Given the description of an element on the screen output the (x, y) to click on. 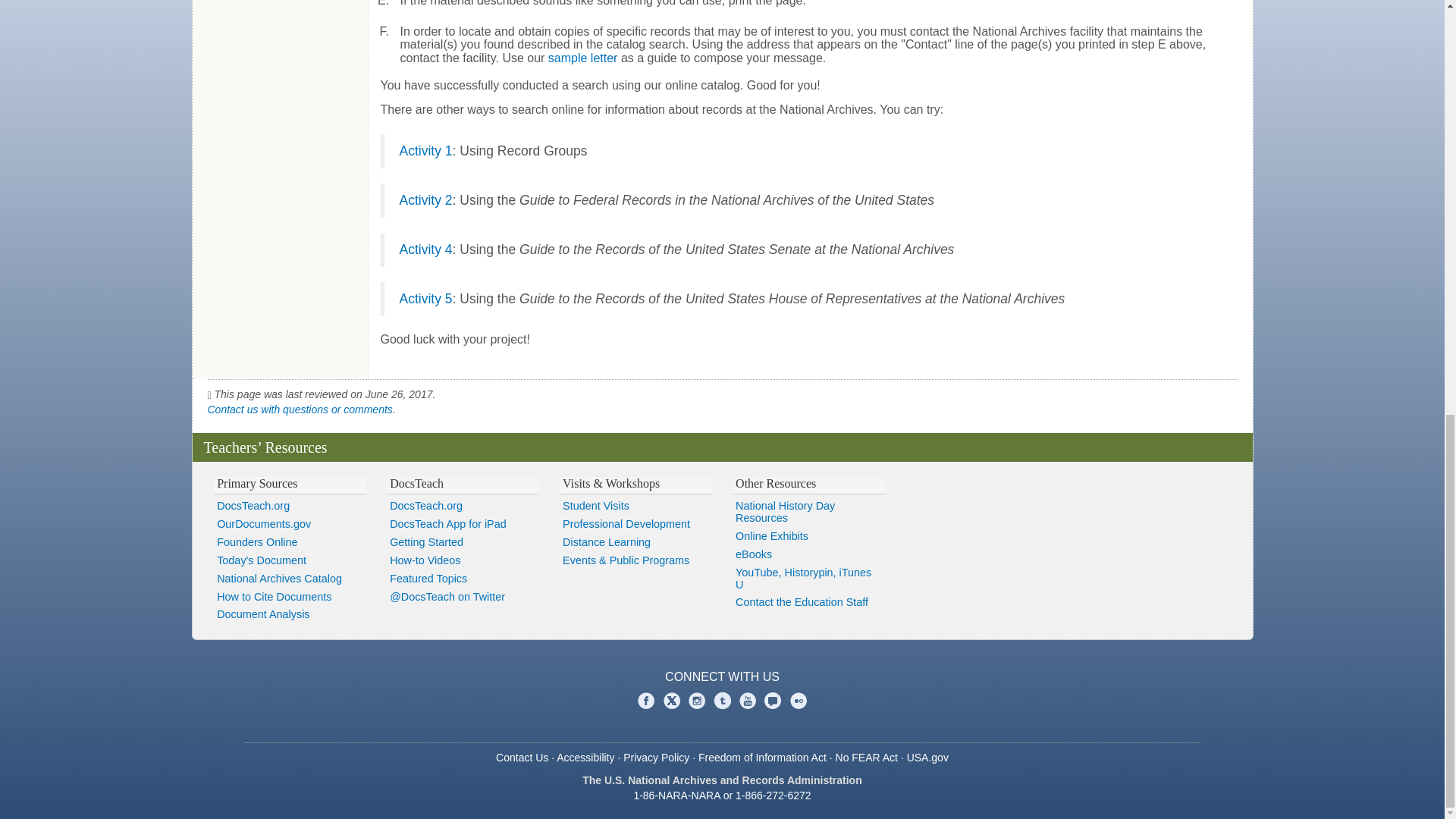
National Archives Catalog (290, 579)
Activity 2 (424, 200)
Contact us with questions or comments (300, 409)
OurDocuments.gov (290, 524)
Founders Online (290, 542)
How to Cite Documents (290, 597)
DocsTeach.org (290, 506)
Activity 1 (424, 150)
Primary Sources (256, 482)
Activity 4 (424, 249)
